Given the description of an element on the screen output the (x, y) to click on. 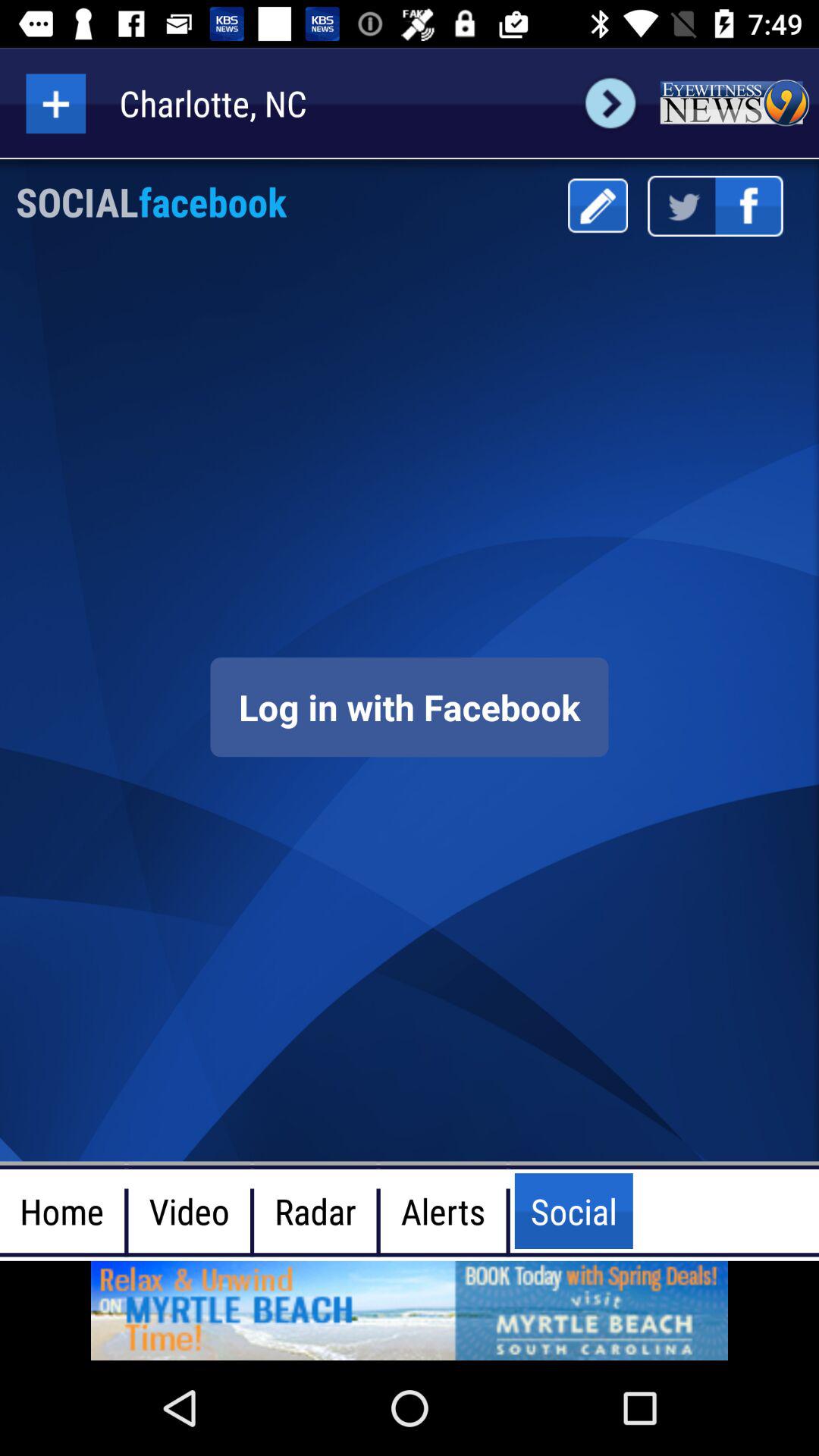
open the website in the advertisement (409, 1310)
